Given the description of an element on the screen output the (x, y) to click on. 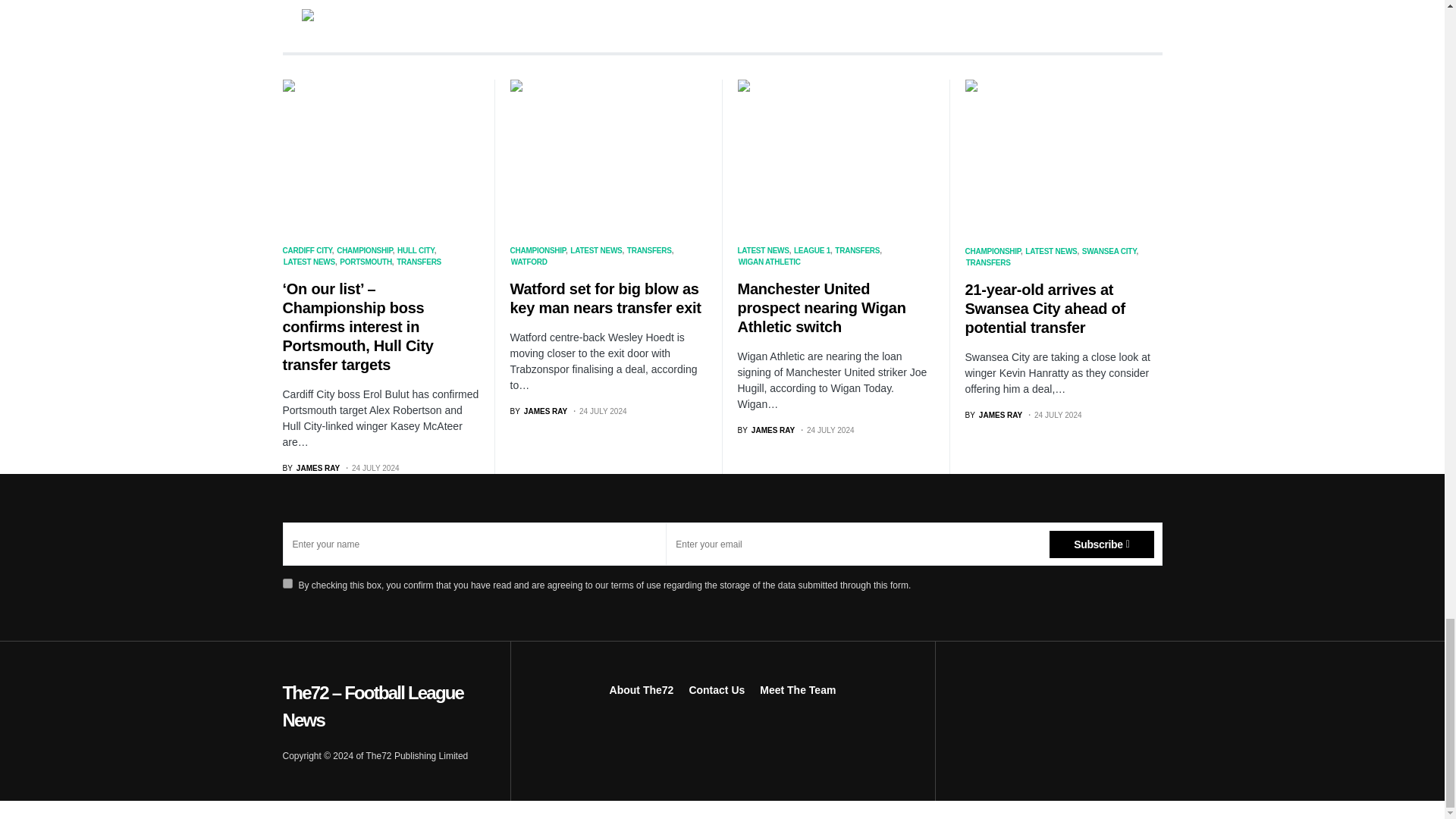
View all posts by James Ray (992, 414)
View all posts by James Ray (538, 410)
on (287, 583)
View all posts by James Ray (765, 430)
View all posts by James Ray (310, 468)
